Given the description of an element on the screen output the (x, y) to click on. 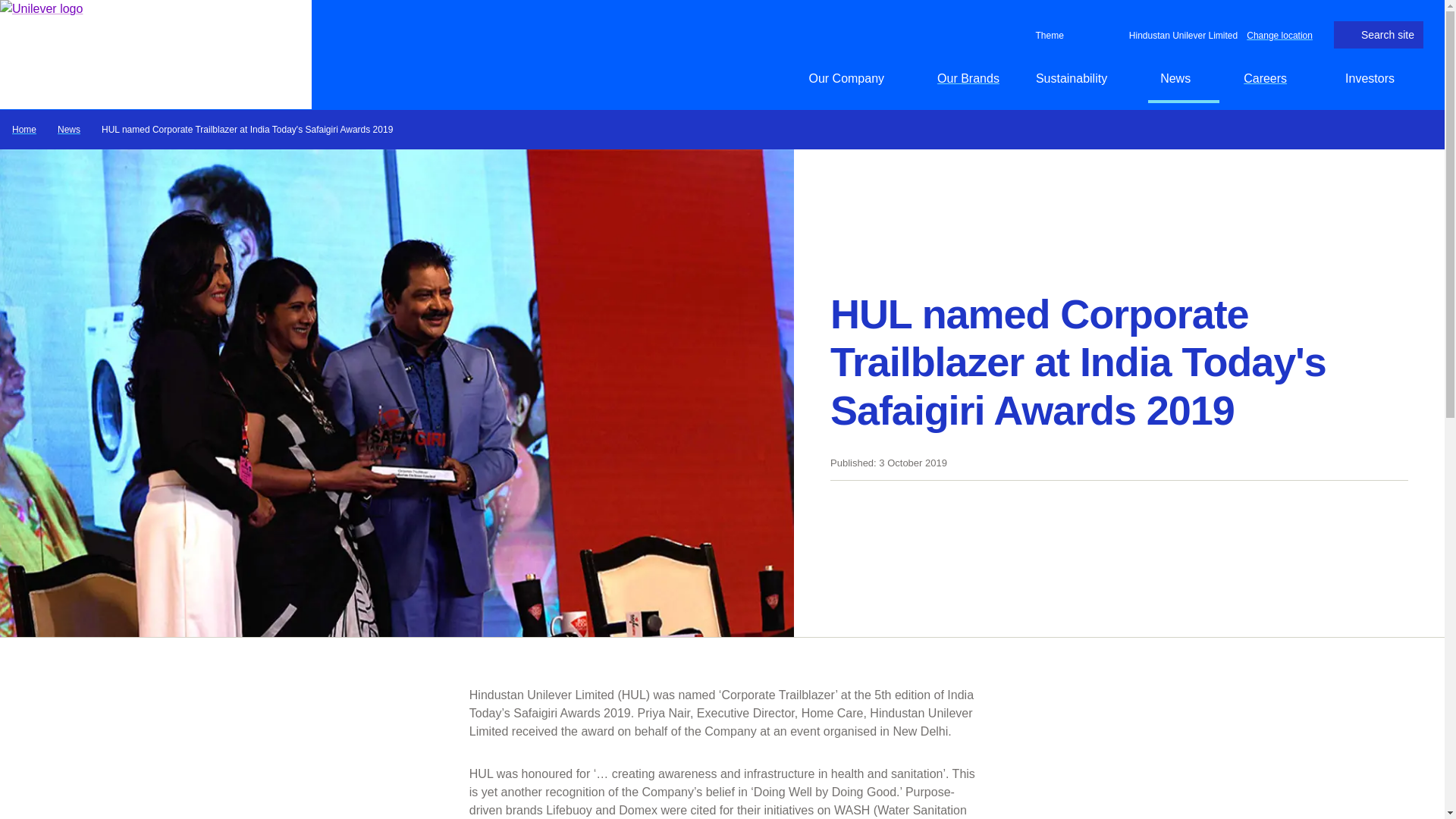
Sustainability (1079, 78)
Search site (1378, 34)
Change location (1279, 34)
Our Company (854, 78)
Theme (1046, 35)
Our Brands (967, 78)
News (1184, 78)
Investors (1378, 78)
